Given the description of an element on the screen output the (x, y) to click on. 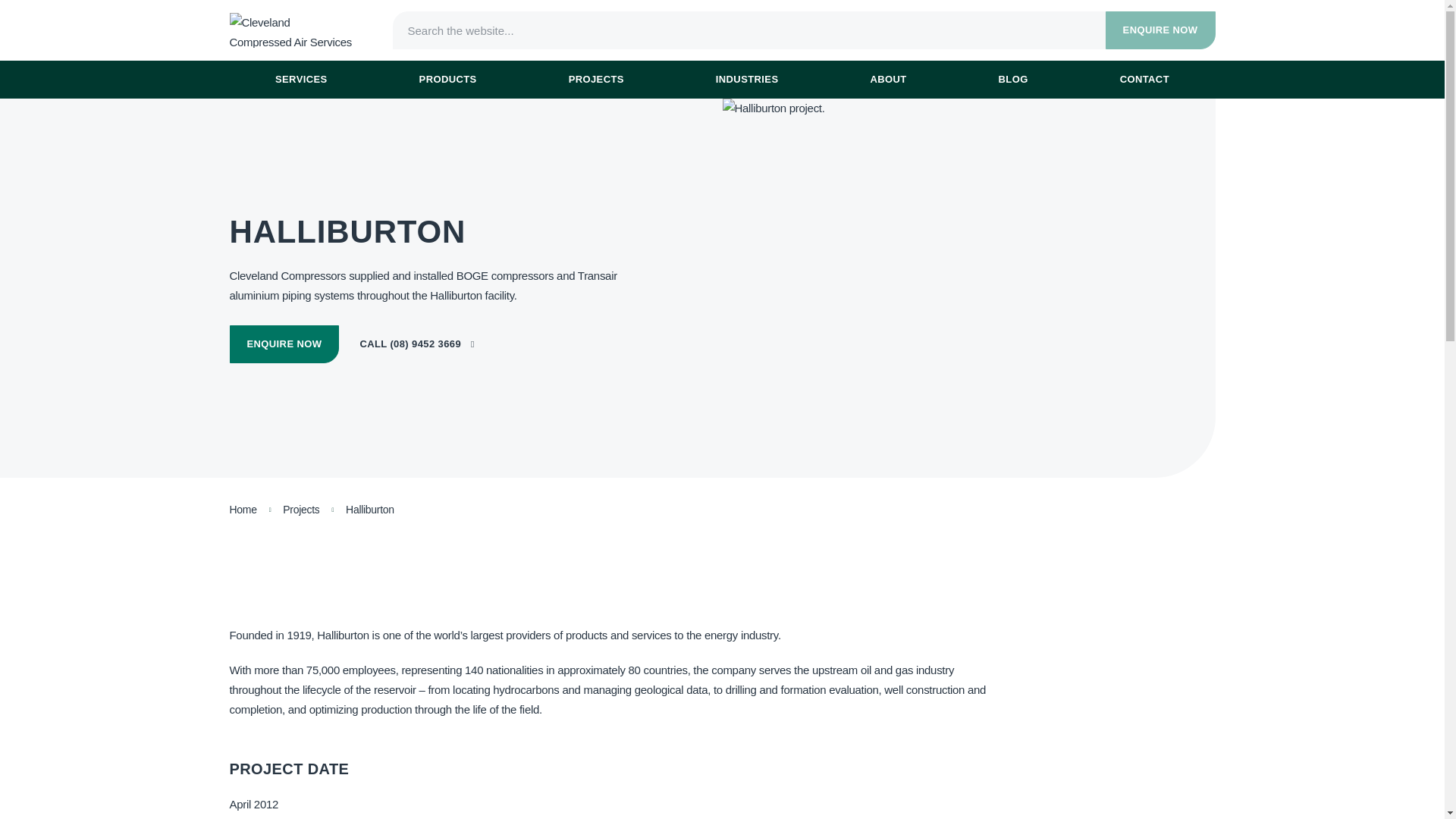
BLOG (1013, 79)
PROJECTS (595, 79)
CONTACT (1144, 79)
Cleveland Compressed Air Services (292, 30)
ABOUT (888, 79)
Home (242, 509)
Submit (936, 34)
PRODUCTS (447, 79)
ENQUIRE NOW (283, 344)
SERVICES (300, 79)
INDUSTRIES (1160, 30)
